Given the description of an element on the screen output the (x, y) to click on. 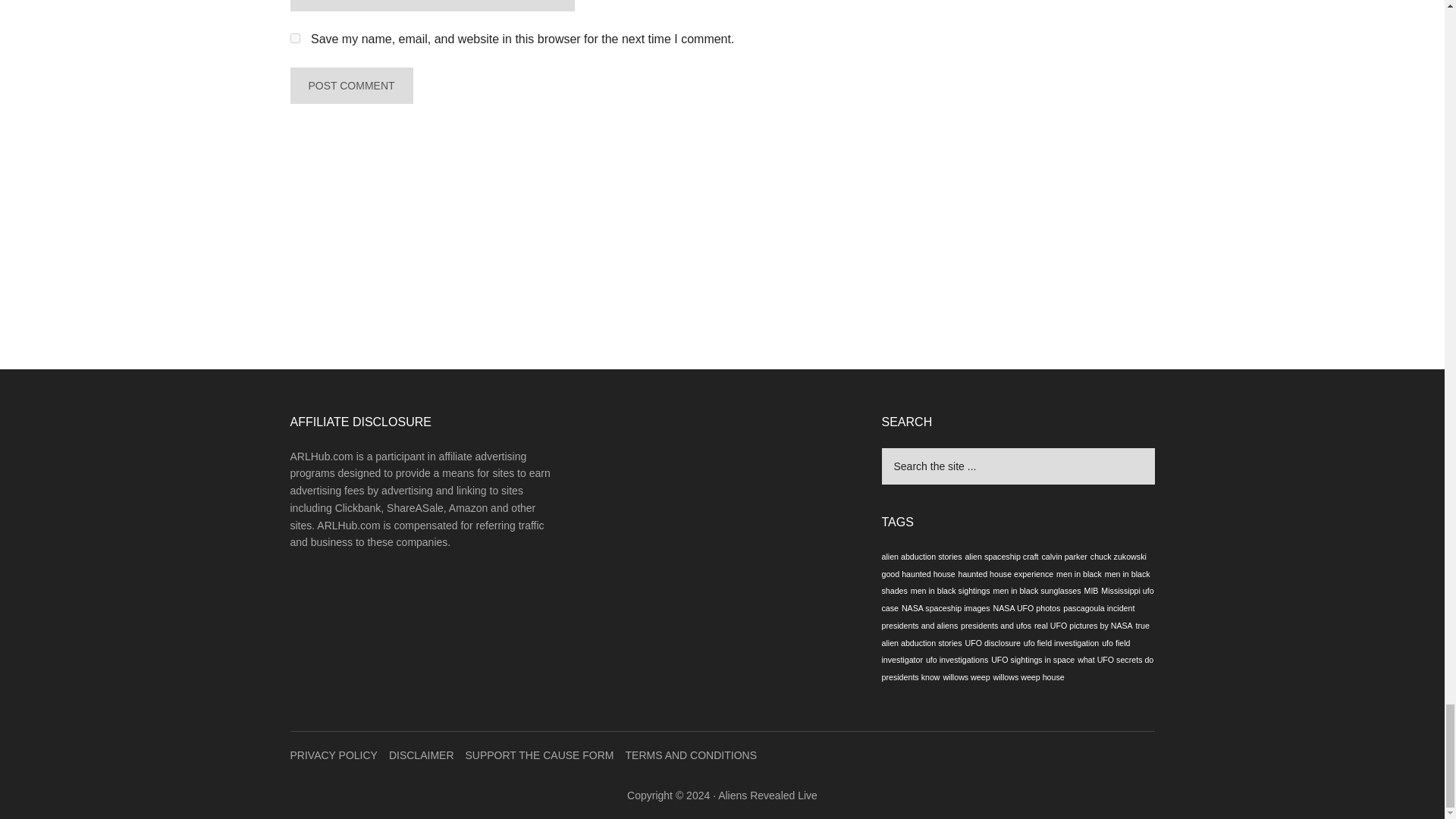
yes (294, 38)
Post Comment (350, 85)
